Given the description of an element on the screen output the (x, y) to click on. 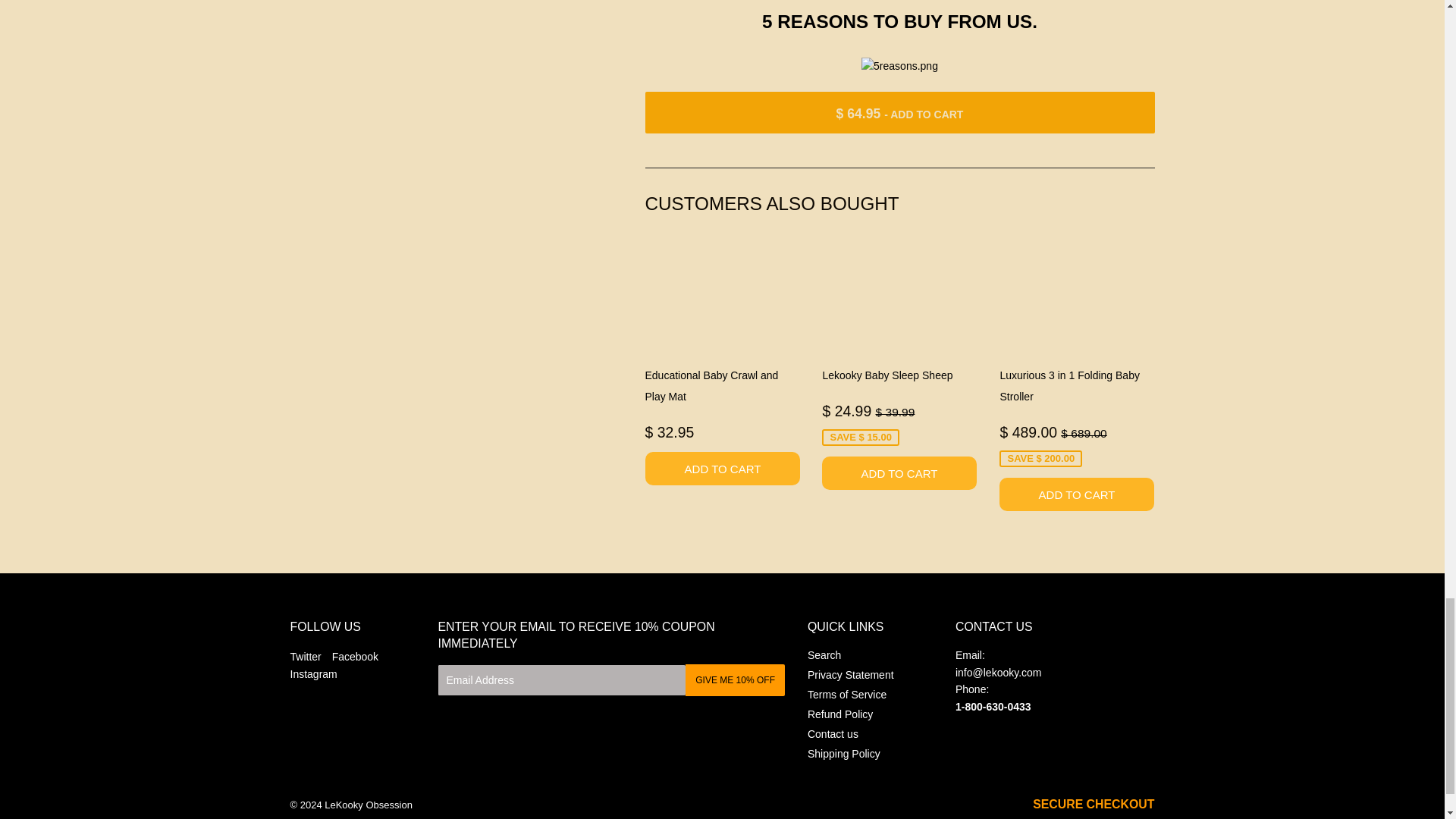
LeKooky Obsession on Facebook (354, 656)
tel:1-800-630-0433 (992, 706)
LeKooky Obsession on Twitter (304, 656)
LeKooky Obsession on Instagram (312, 674)
